Given the description of an element on the screen output the (x, y) to click on. 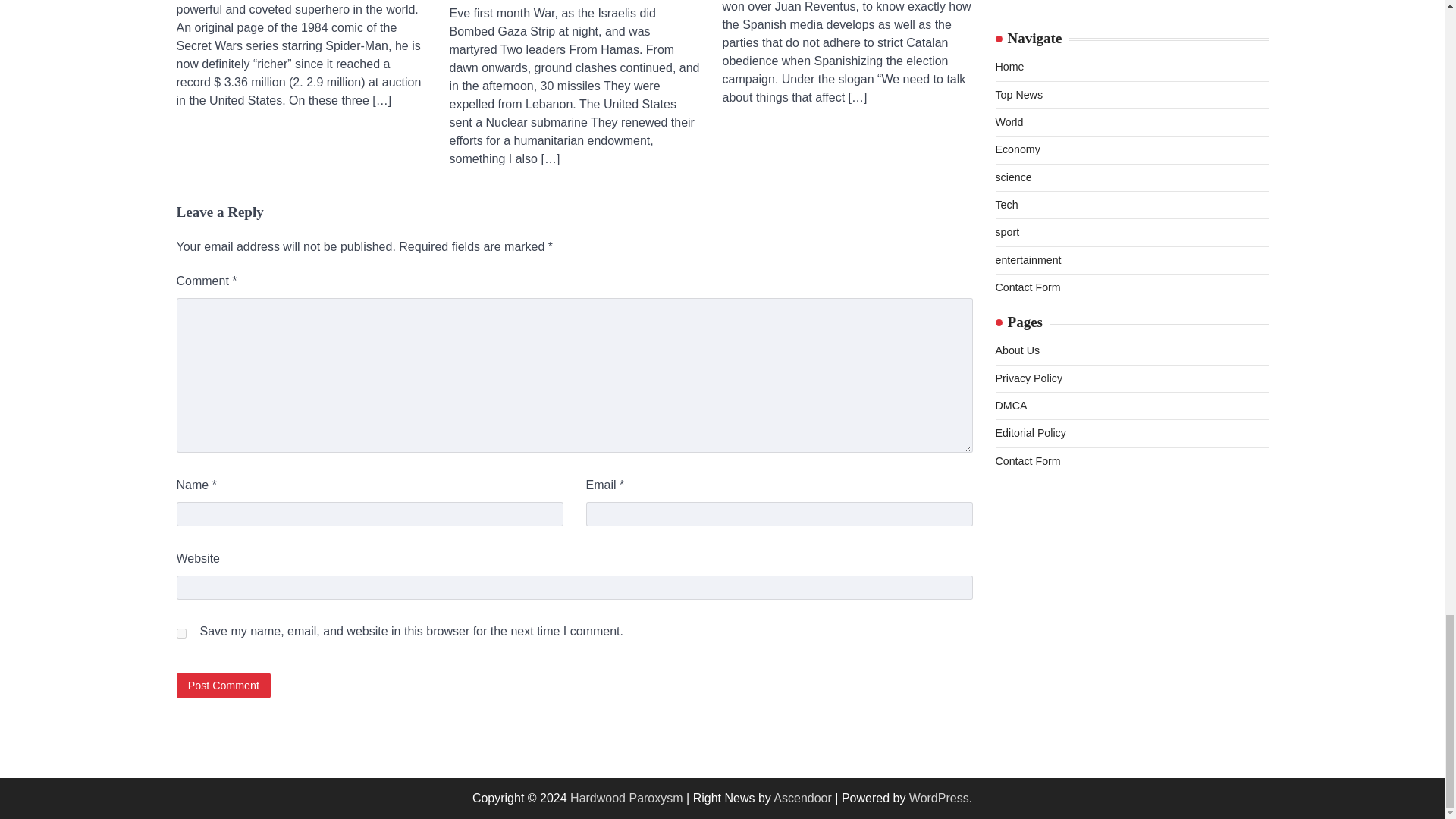
yes (181, 633)
Post Comment (223, 684)
Post Comment (223, 684)
